Given the description of an element on the screen output the (x, y) to click on. 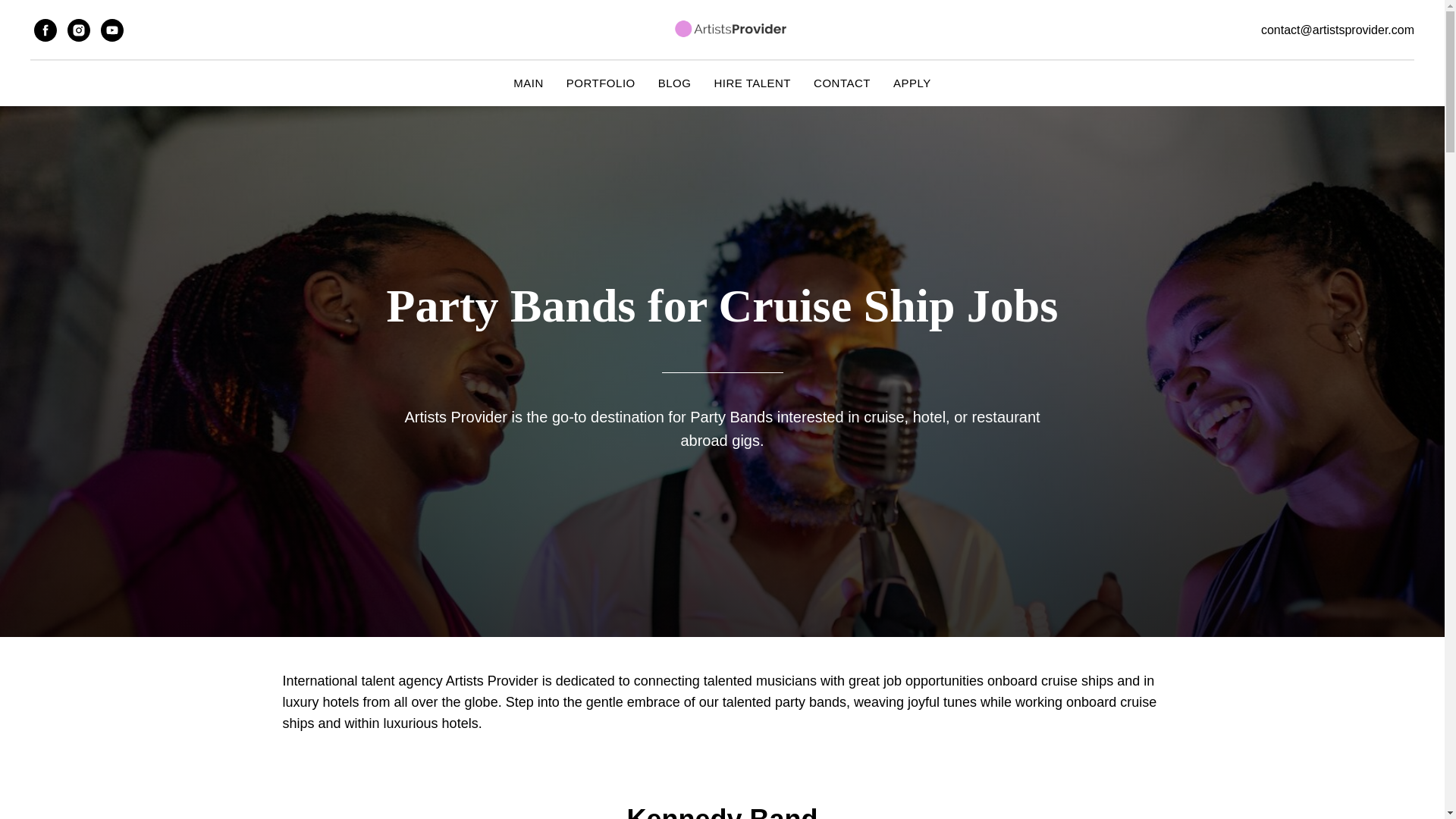
HIRE TALENT (751, 82)
MAIN (528, 82)
APPLY (912, 82)
PORTFOLIO (600, 82)
BLOG (674, 82)
CONTACT (841, 82)
